Given the description of an element on the screen output the (x, y) to click on. 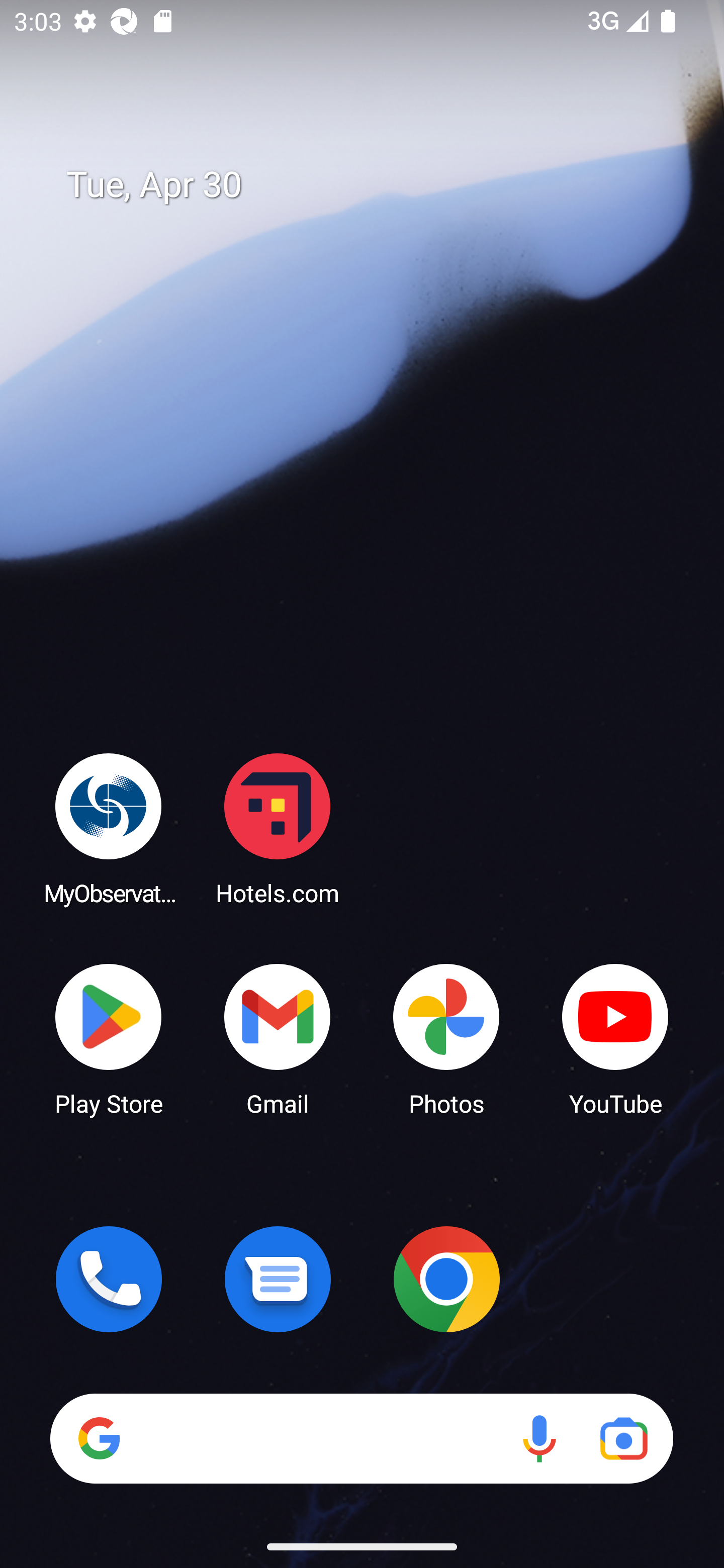
Tue, Apr 30 (375, 184)
MyObservatory (108, 828)
Hotels.com (277, 828)
Play Store (108, 1038)
Gmail (277, 1038)
Photos (445, 1038)
YouTube (615, 1038)
Phone (108, 1279)
Messages (277, 1279)
Chrome (446, 1279)
Search Voice search Google Lens (361, 1438)
Voice search (539, 1438)
Google Lens (623, 1438)
